Given the description of an element on the screen output the (x, y) to click on. 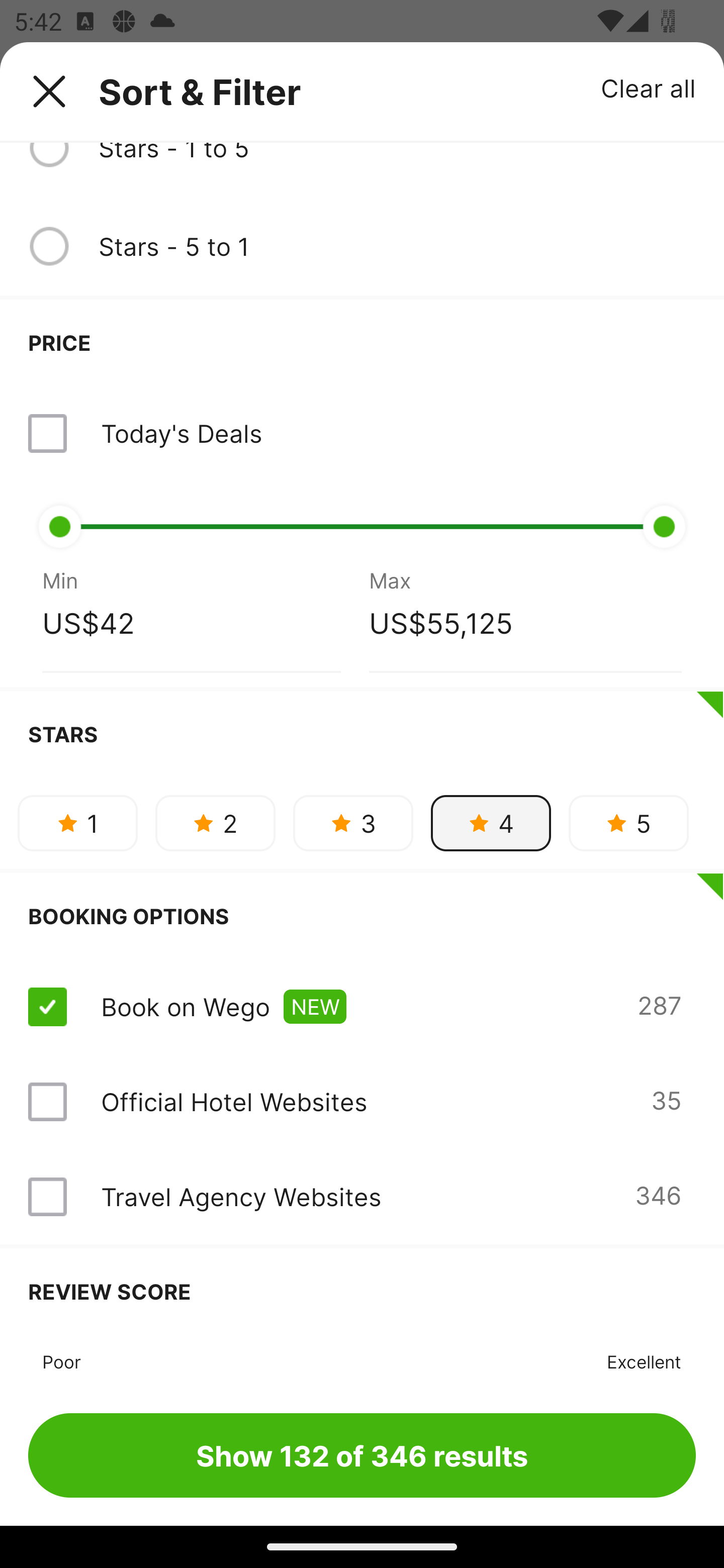
Clear all (648, 87)
Stars - 5 to 1 (396, 245)
Today's Deals (362, 433)
Today's Deals (181, 433)
1 (77, 822)
2 (214, 822)
3 (352, 822)
4 (491, 822)
5 (627, 822)
Book on Wego NEW 287 (362, 1006)
Book on Wego (184, 1006)
Official Hotel Websites 35 (362, 1101)
Official Hotel Websites (233, 1101)
Travel Agency Websites 346 (362, 1196)
Travel Agency Websites (240, 1196)
Poor Excellent (362, 1359)
Show 132 of 346 results (361, 1454)
